Given the description of an element on the screen output the (x, y) to click on. 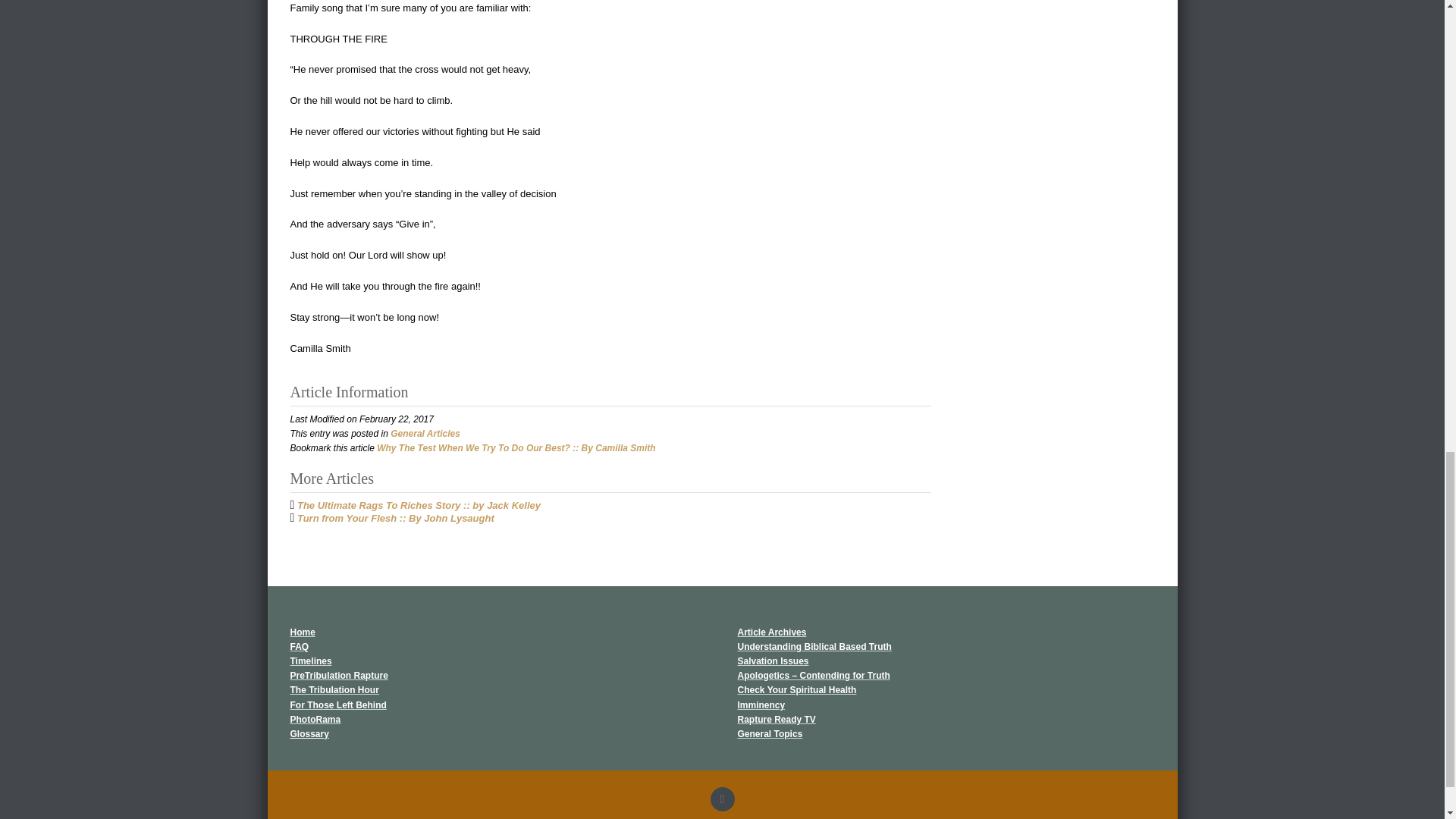
Check Your Spiritual Health (796, 689)
Timelines (310, 661)
Imminency (760, 705)
General Articles (425, 433)
Home (301, 632)
The Tribulation Hour (333, 689)
Turn from Your Flesh :: By John Lysaught (396, 518)
Salvation Issues (772, 661)
Facebook (721, 799)
PhotoRama (314, 719)
